Given the description of an element on the screen output the (x, y) to click on. 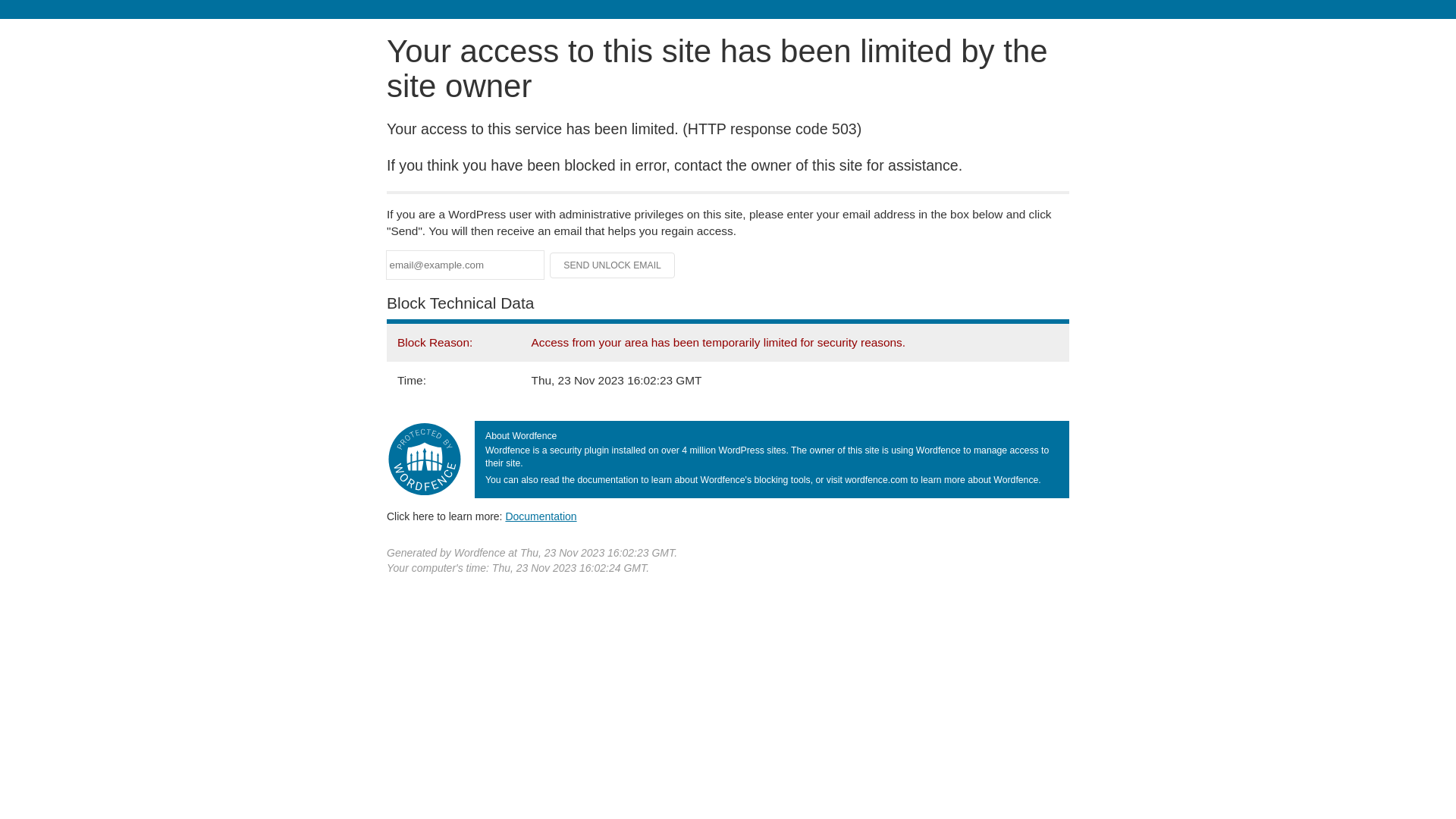
Documentation Element type: text (540, 516)
Send Unlock Email Element type: text (612, 265)
